Given the description of an element on the screen output the (x, y) to click on. 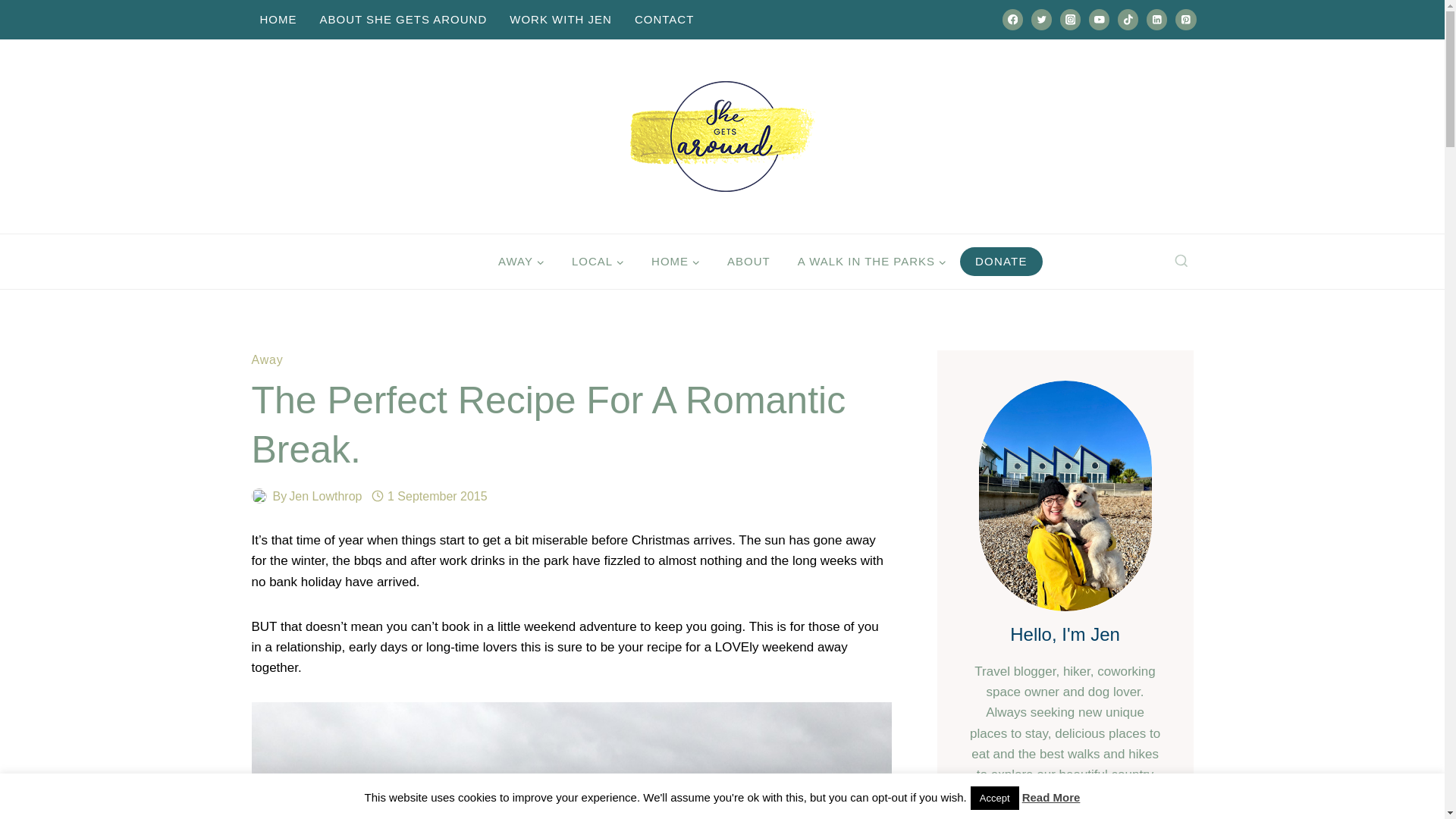
A WALK IN THE PARKS (871, 261)
HOME (278, 20)
CONTACT (663, 20)
HOME (675, 261)
ABOUT SHE GETS AROUND (402, 20)
ABOUT (748, 261)
DONATE (1000, 261)
LOCAL (597, 261)
WORK WITH JEN (560, 20)
AWAY (520, 261)
